Given the description of an element on the screen output the (x, y) to click on. 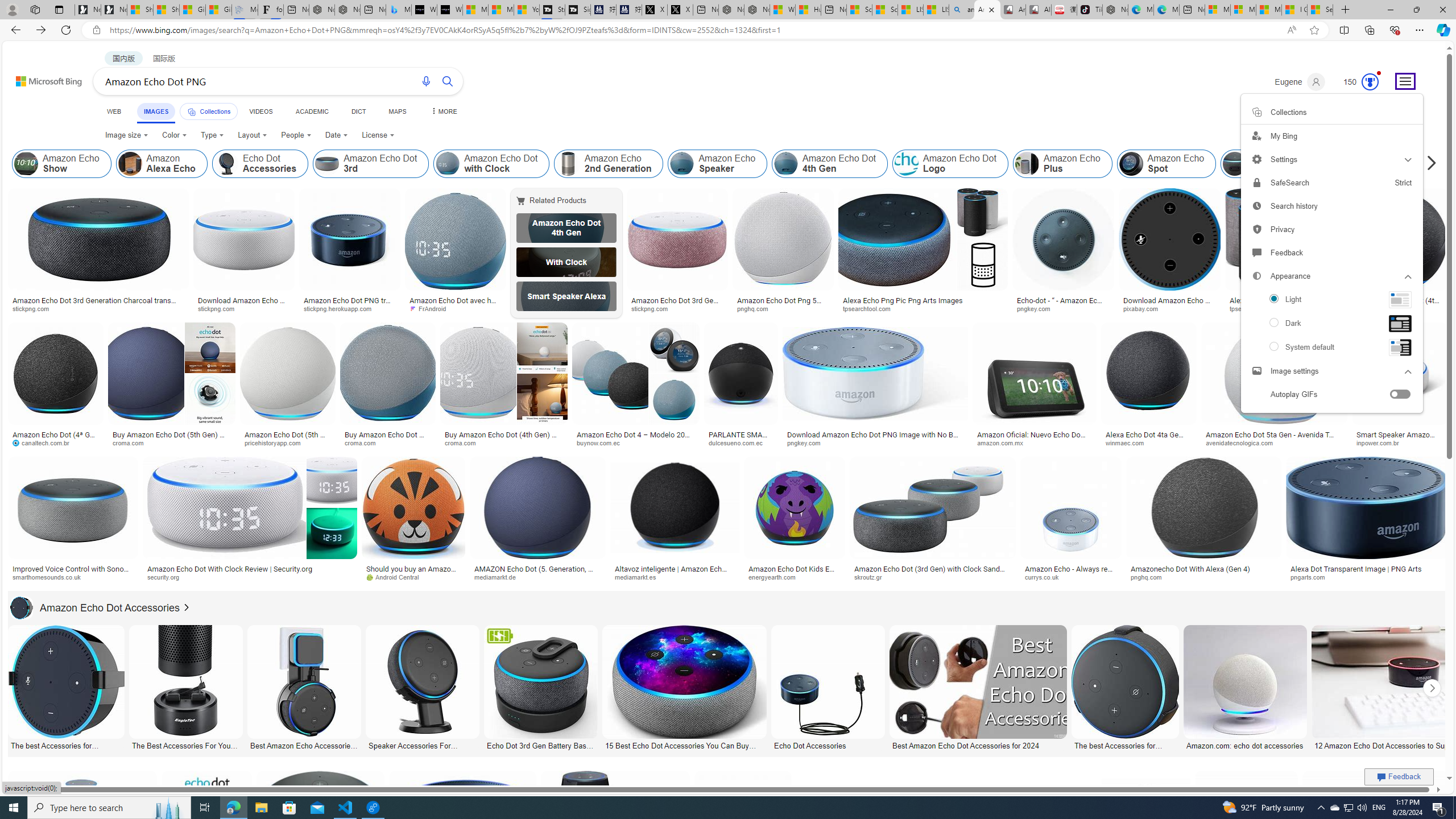
Newsletter Sign Up (114, 9)
Appearance (1331, 323)
buynow.com.ec (635, 442)
canaltech.com.br (45, 442)
Search history (1331, 205)
